Given the description of an element on the screen output the (x, y) to click on. 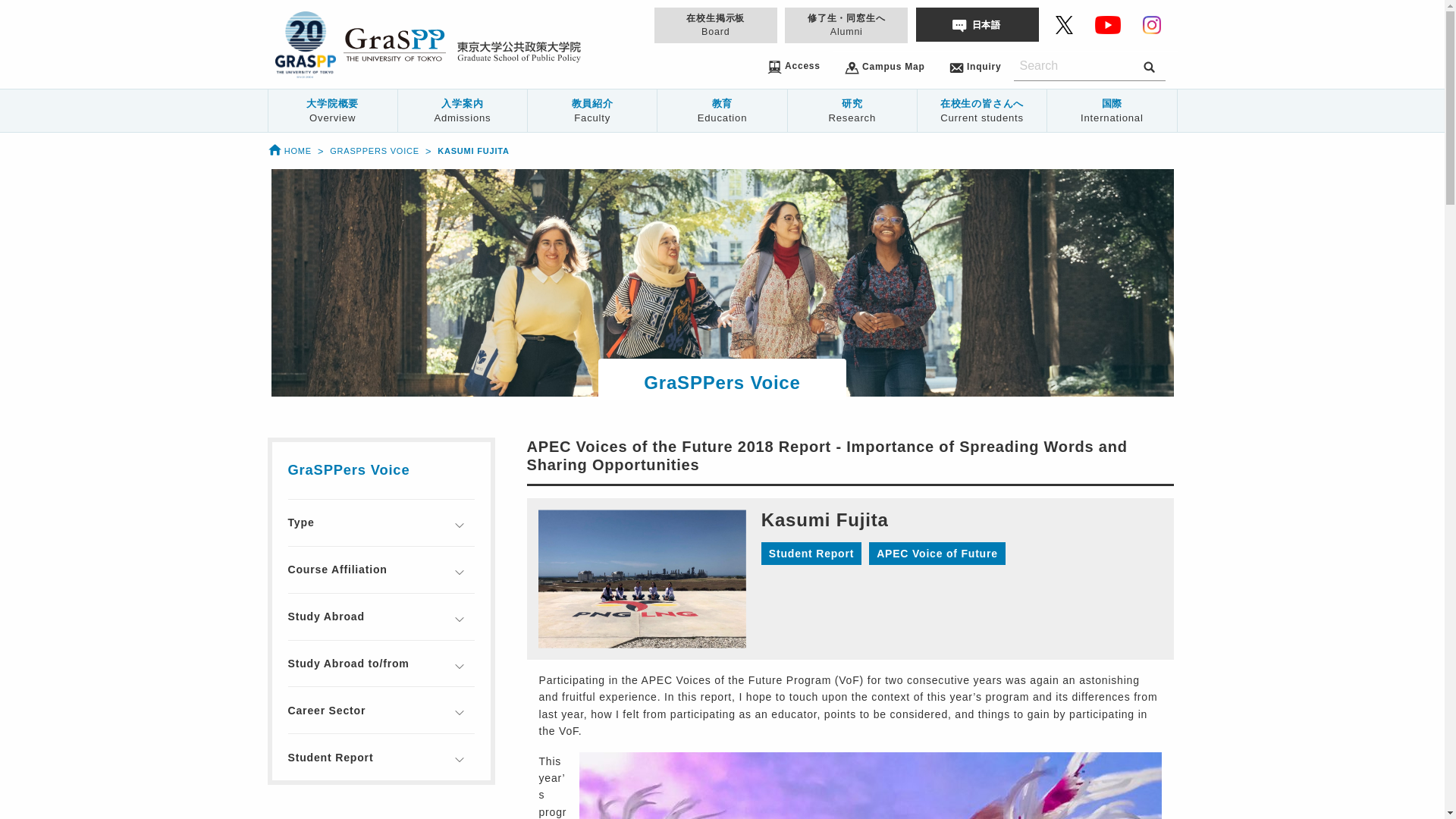
Expand (459, 759)
GraSPPers Voice (374, 150)
Inquiry (975, 66)
Expand (459, 572)
Expand (459, 619)
Home (288, 150)
Expand (459, 666)
Kasumi Fujita (473, 150)
Expand (459, 525)
Campus Map (884, 66)
Expand (459, 712)
Access (794, 65)
